Given the description of an element on the screen output the (x, y) to click on. 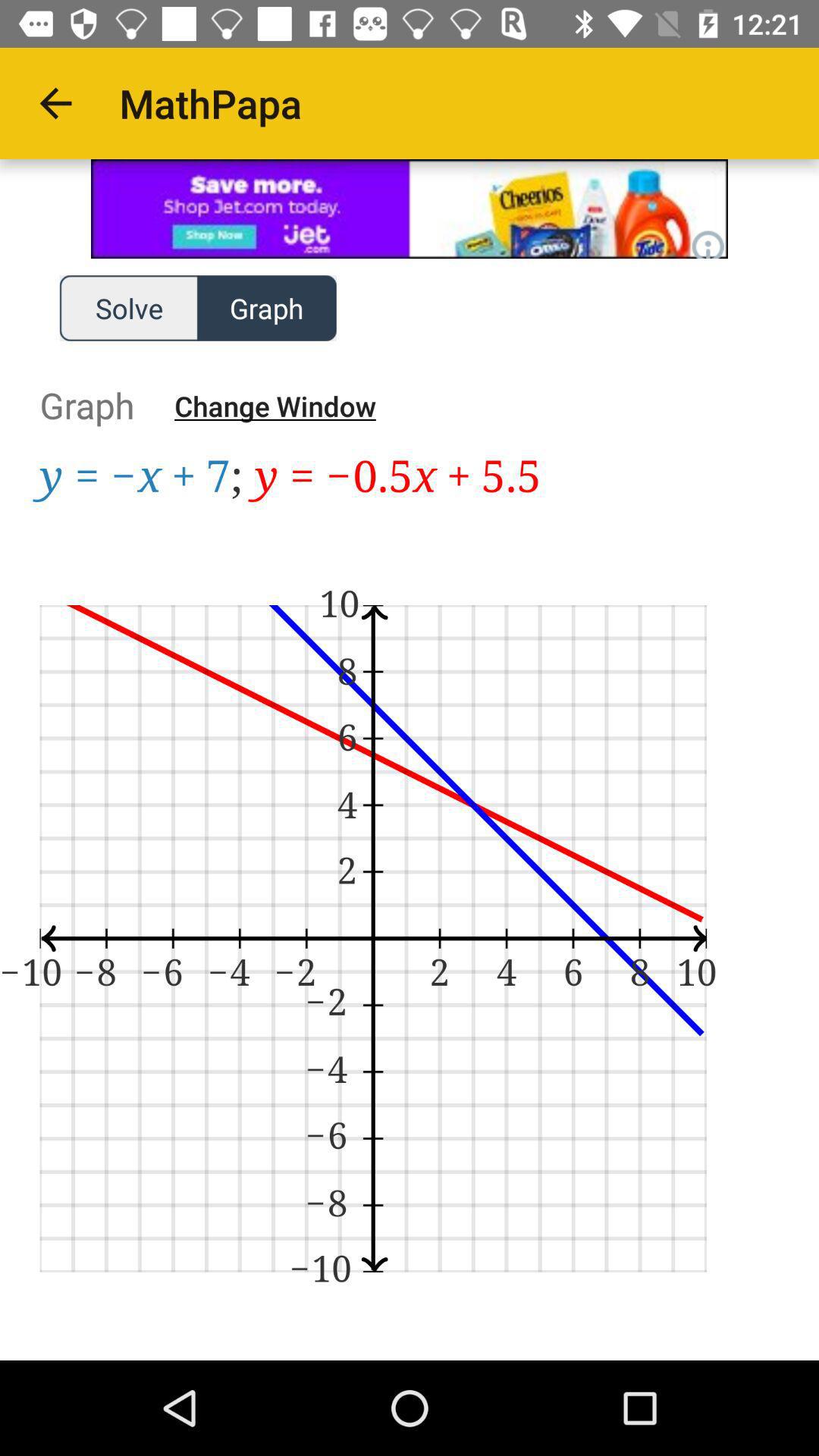
graph page (409, 906)
